Given the description of an element on the screen output the (x, y) to click on. 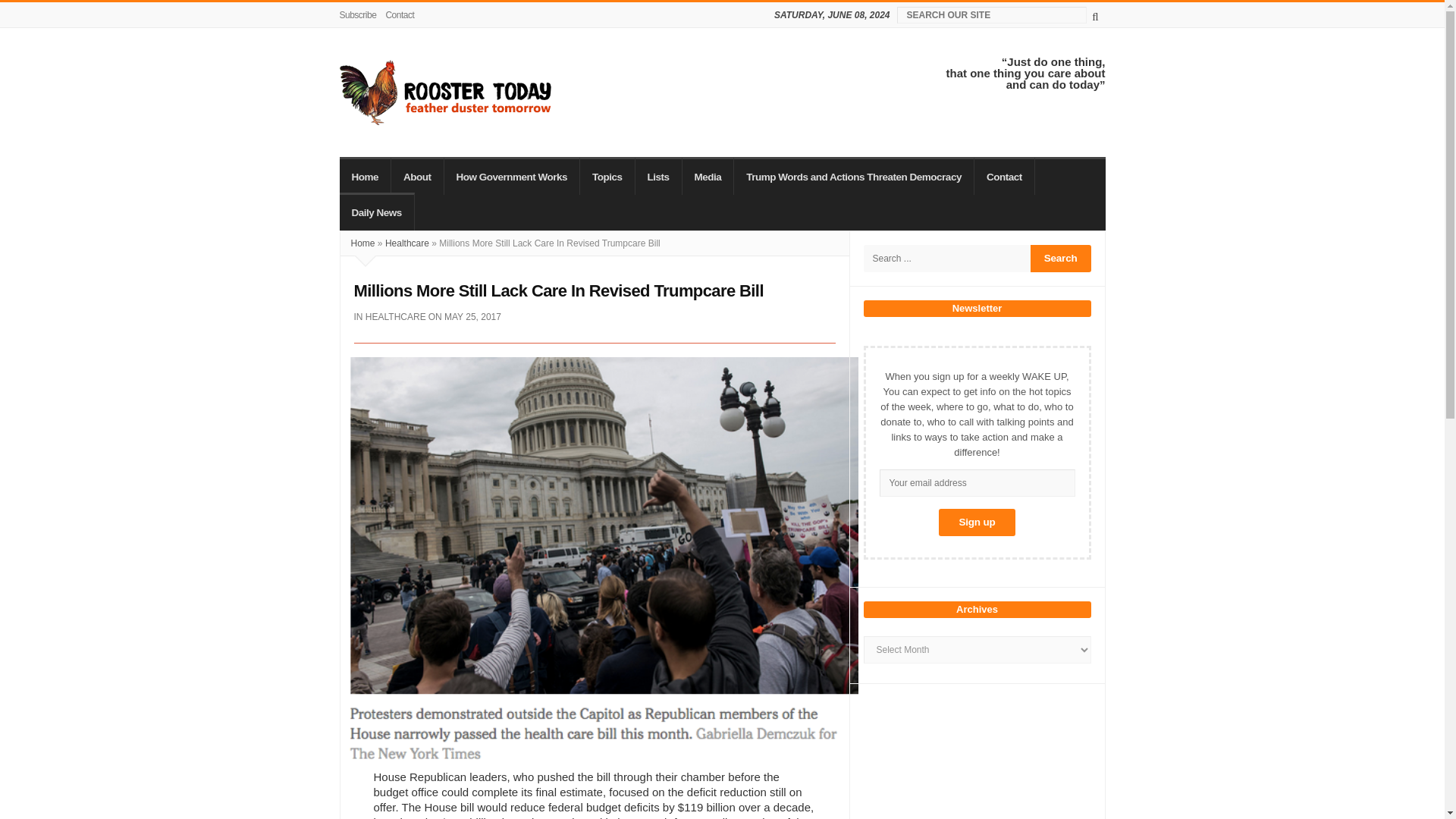
Contact (399, 14)
Subscribe (360, 14)
Sign up (976, 522)
Topics (606, 175)
Search for: (946, 257)
Search (1060, 257)
Home (365, 175)
How Government Works (512, 175)
Search (1060, 257)
About (417, 175)
